Given the description of an element on the screen output the (x, y) to click on. 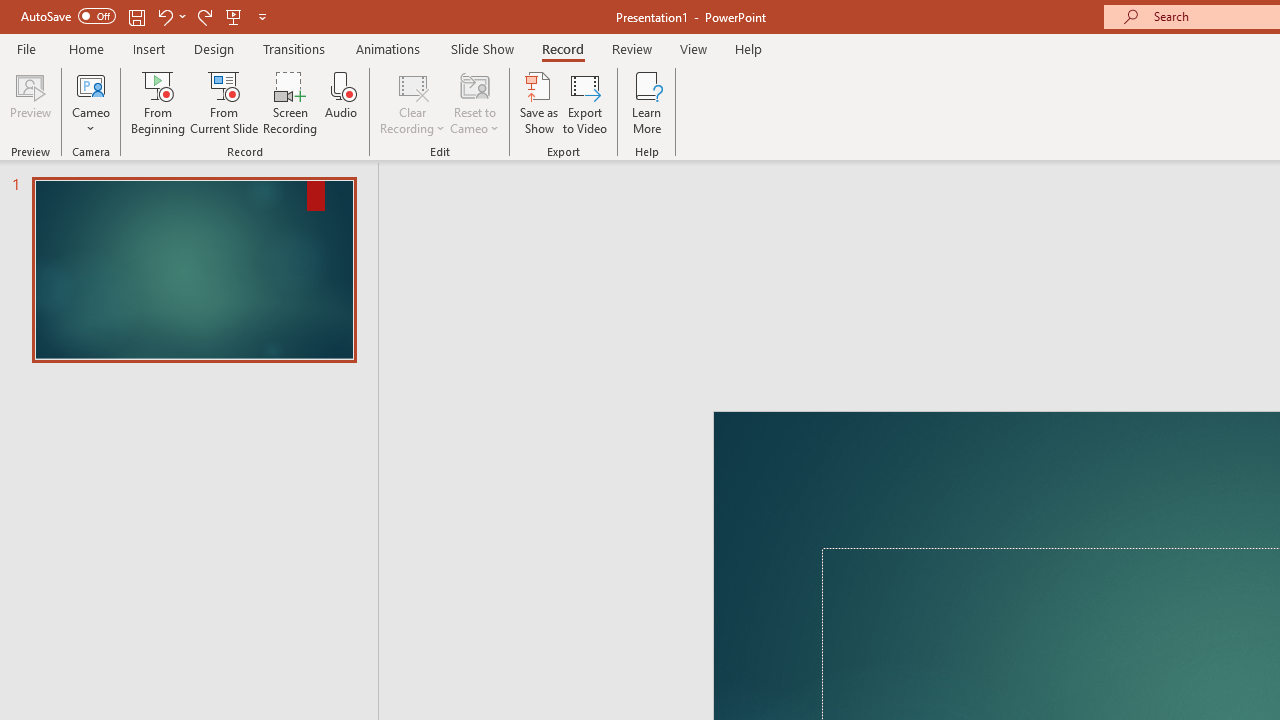
Cameo (91, 84)
Screen Recording (290, 102)
Save as Show (539, 102)
